Given the description of an element on the screen output the (x, y) to click on. 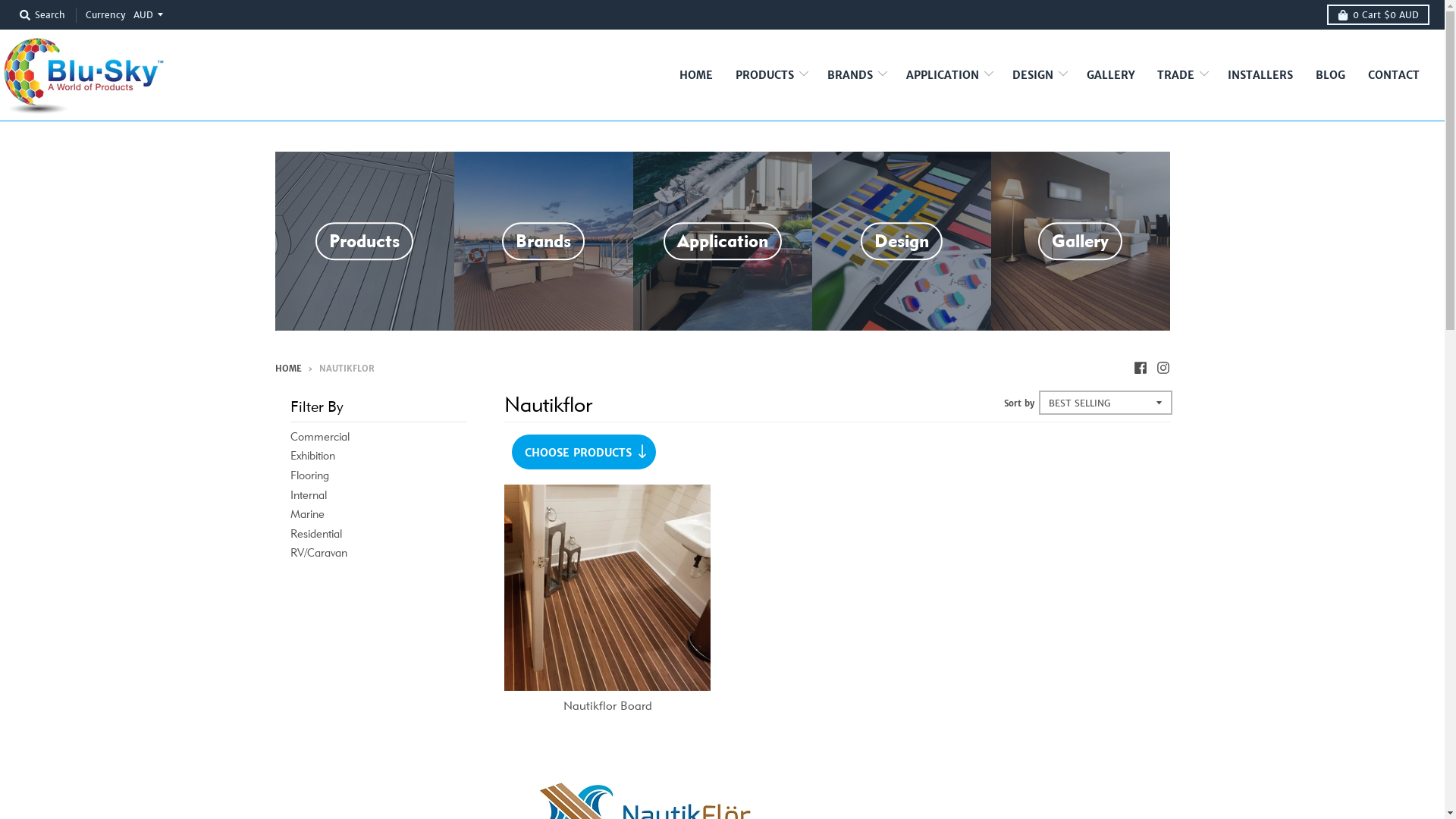
Gallery Element type: text (1079, 240)
Residential Element type: text (315, 533)
RV/Caravan Element type: text (317, 552)
Facebook - BluSky Products Pty Ltd Element type: hover (1139, 367)
BRANDS Element type: text (855, 75)
Internal Element type: text (307, 494)
Flooring Element type: text (308, 474)
Instagram - BluSky Products Pty Ltd Element type: hover (1162, 367)
CONTACT Element type: text (1393, 75)
PRODUCTS Element type: text (769, 75)
HOME Element type: text (287, 368)
Marine Element type: text (306, 513)
GALLERY Element type: text (1110, 75)
DESIGN Element type: text (1037, 75)
TRADE Element type: text (1180, 75)
HOME Element type: text (695, 75)
Exhibition Element type: text (311, 455)
BLOG Element type: text (1330, 75)
Commercial Element type: text (318, 436)
Nautikflor Board Element type: text (607, 705)
0 Cart $0 AUD Element type: text (1378, 14)
INSTALLERS Element type: text (1259, 75)
Search Element type: text (42, 14)
APPLICATION Element type: text (947, 75)
